Given the description of an element on the screen output the (x, y) to click on. 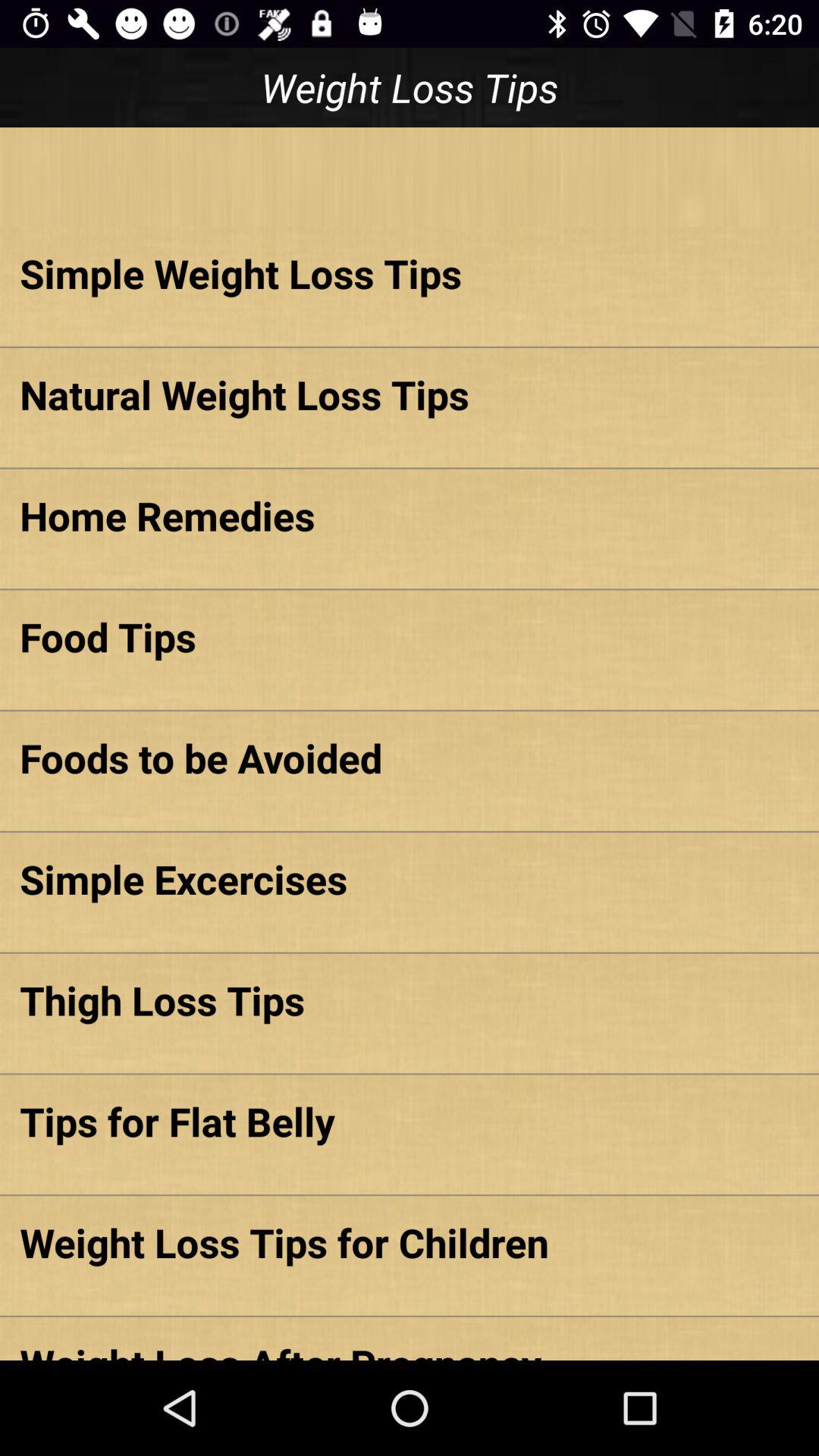
open the item below food tips (409, 757)
